Given the description of an element on the screen output the (x, y) to click on. 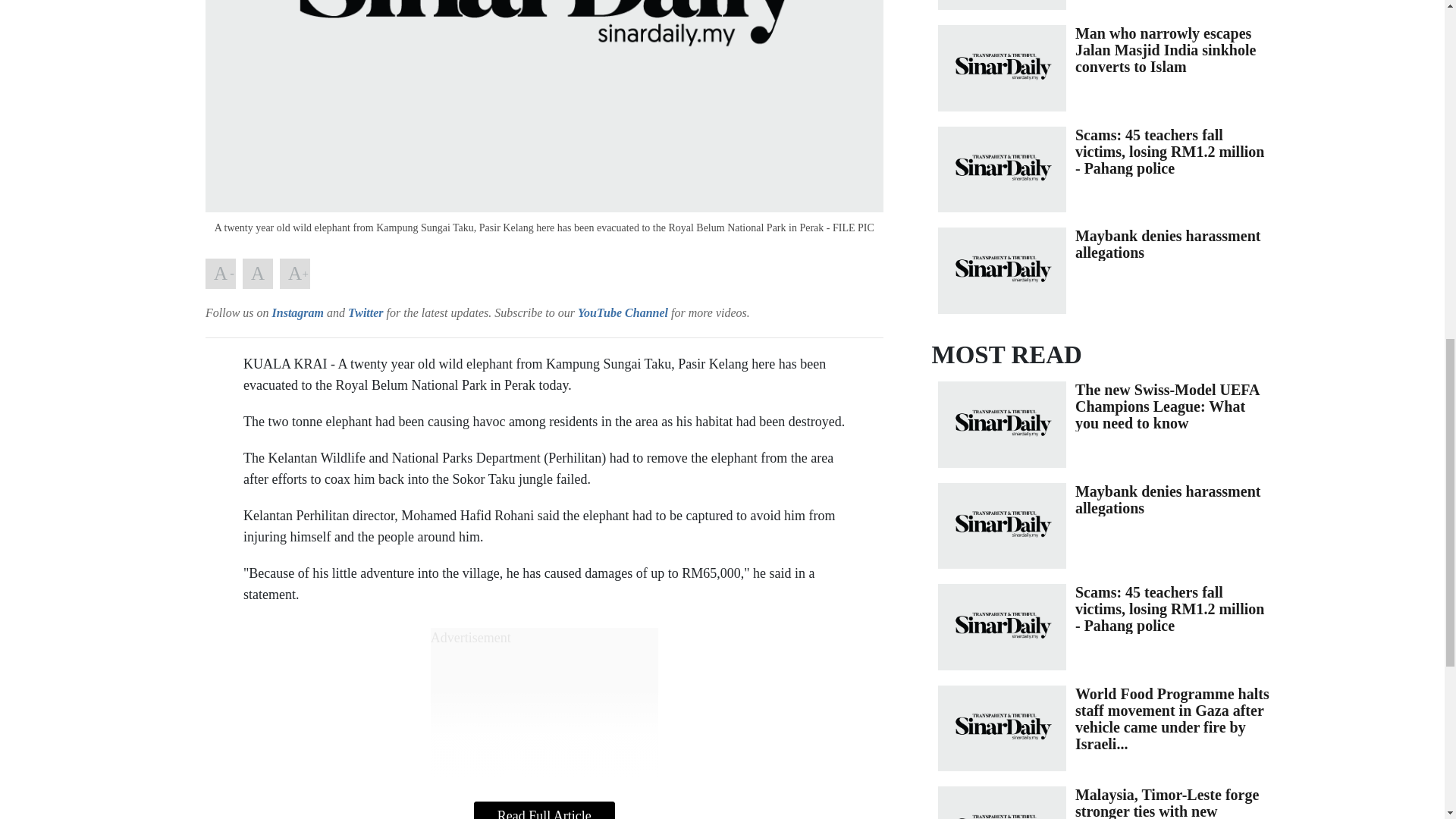
Teks Asal (258, 273)
Teks Besar (294, 273)
Teks Kecil (220, 273)
